Given the description of an element on the screen output the (x, y) to click on. 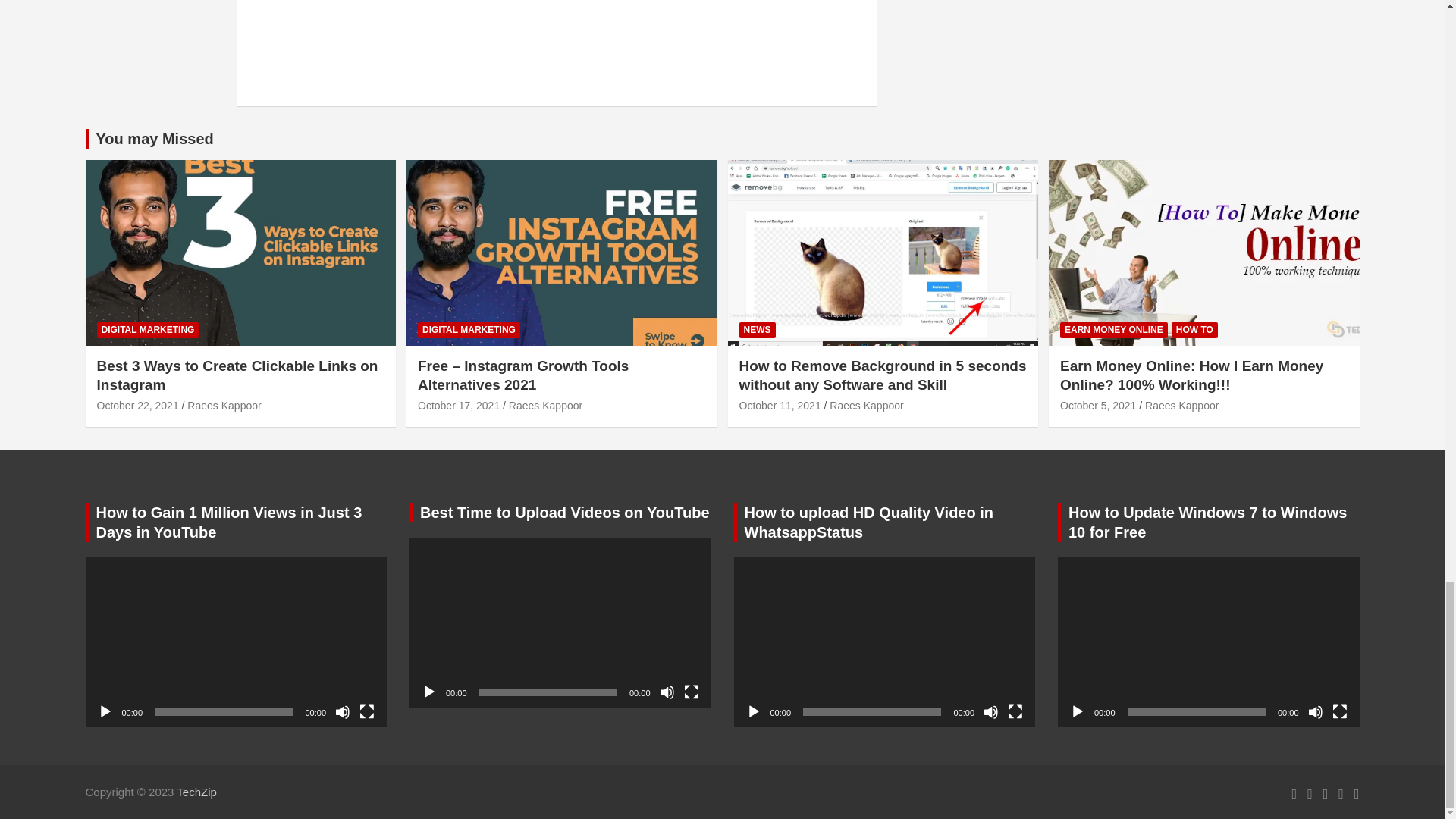
Best 3 Ways to Create Clickable Links on Instagram (138, 405)
Comment Form (556, 41)
